Given the description of an element on the screen output the (x, y) to click on. 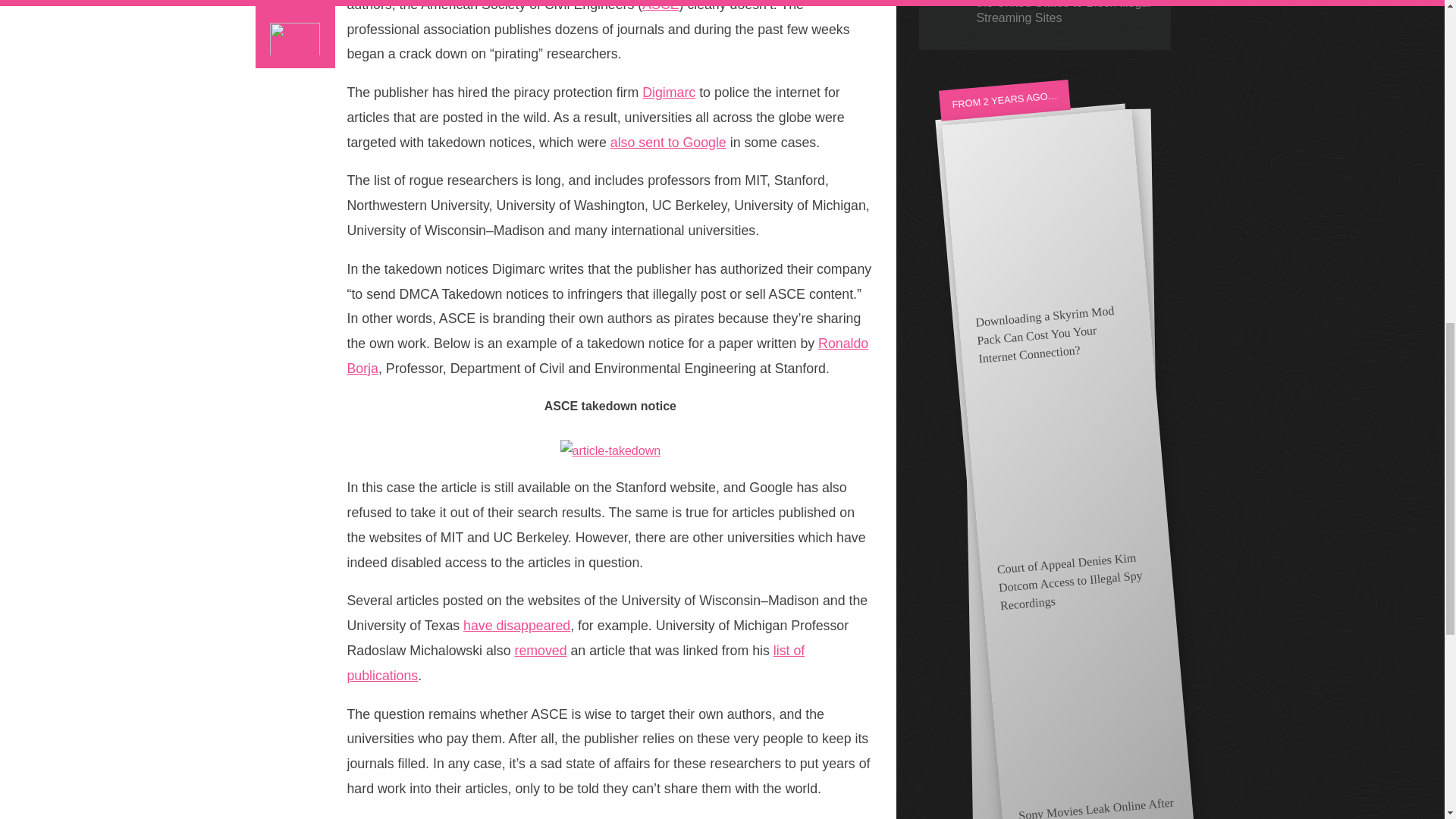
removed (539, 650)
ASCE (660, 6)
Digimarc (668, 92)
have disappeared (516, 625)
also sent to Google (668, 142)
list of publications (576, 662)
Ronaldo Borja (608, 355)
